Given the description of an element on the screen output the (x, y) to click on. 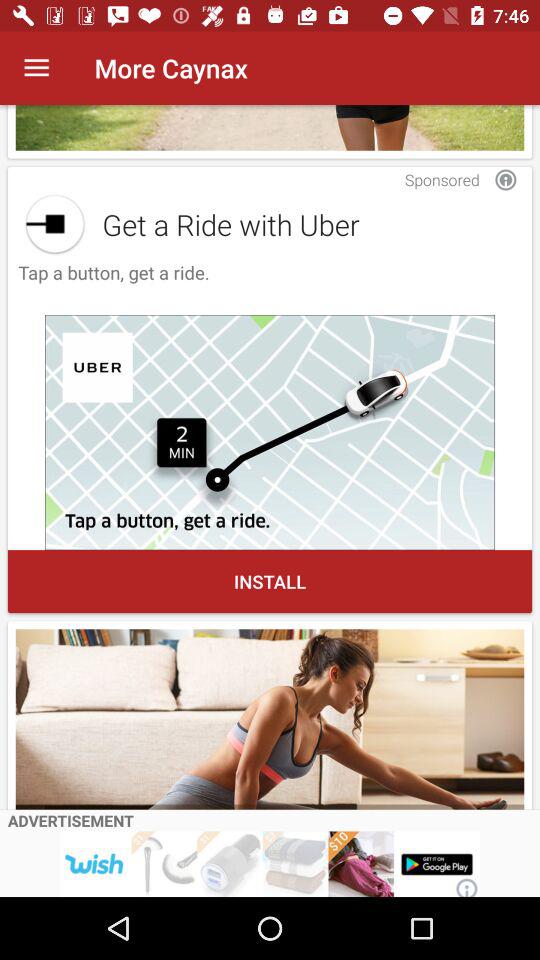
view advertisement (269, 719)
